Given the description of an element on the screen output the (x, y) to click on. 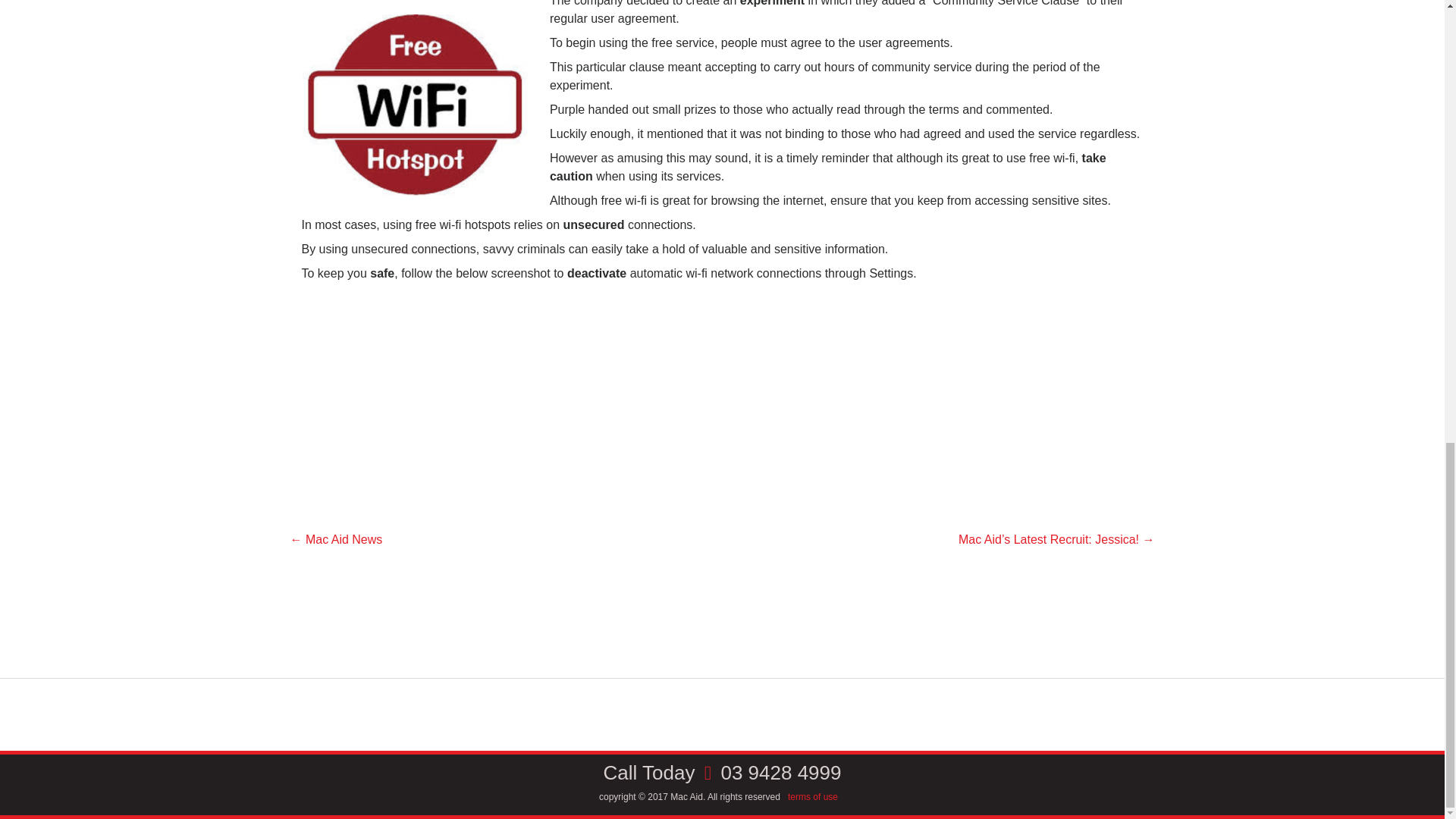
terms of use (812, 796)
